Given the description of an element on the screen output the (x, y) to click on. 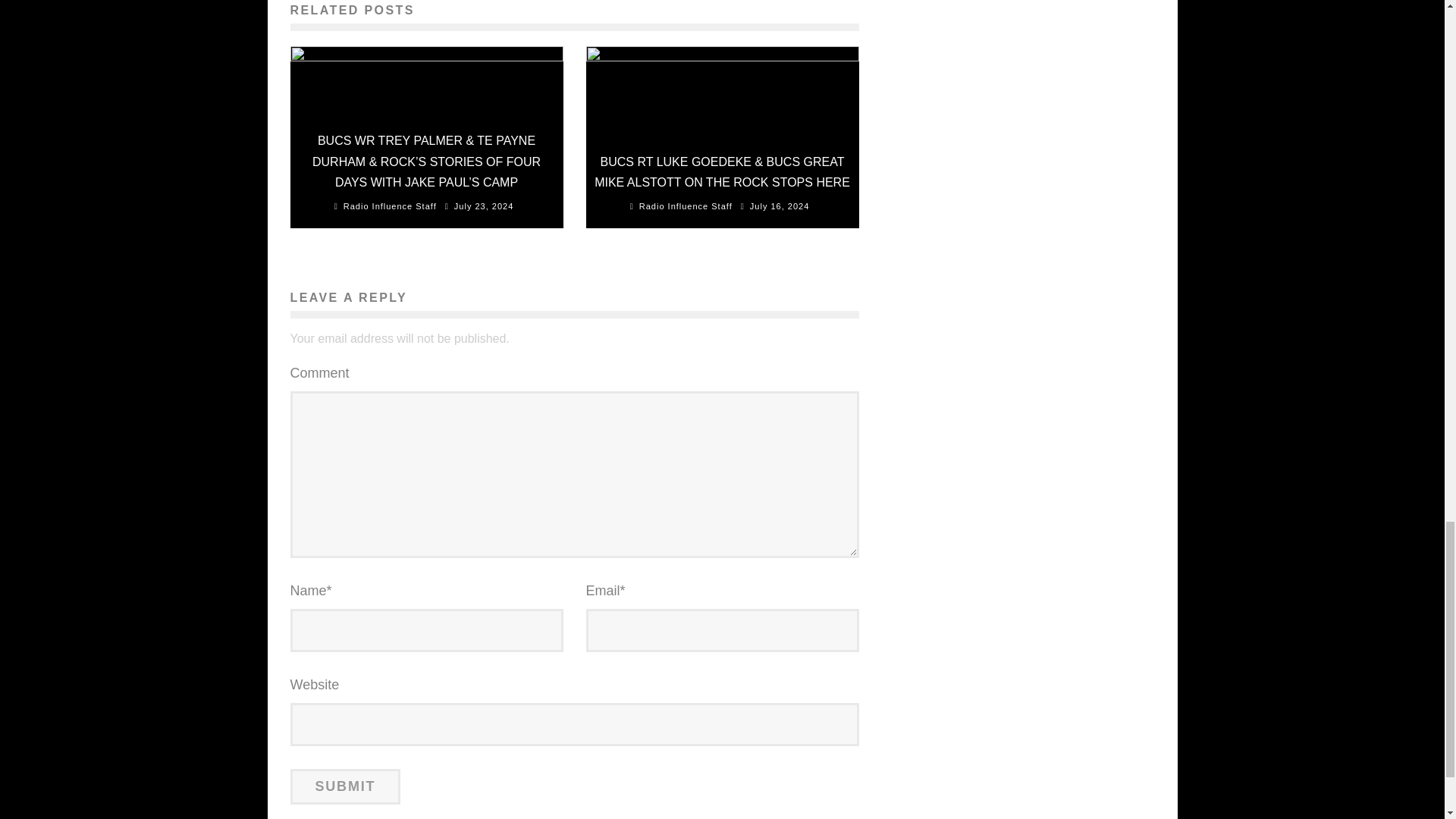
Submit (344, 786)
